Given the description of an element on the screen output the (x, y) to click on. 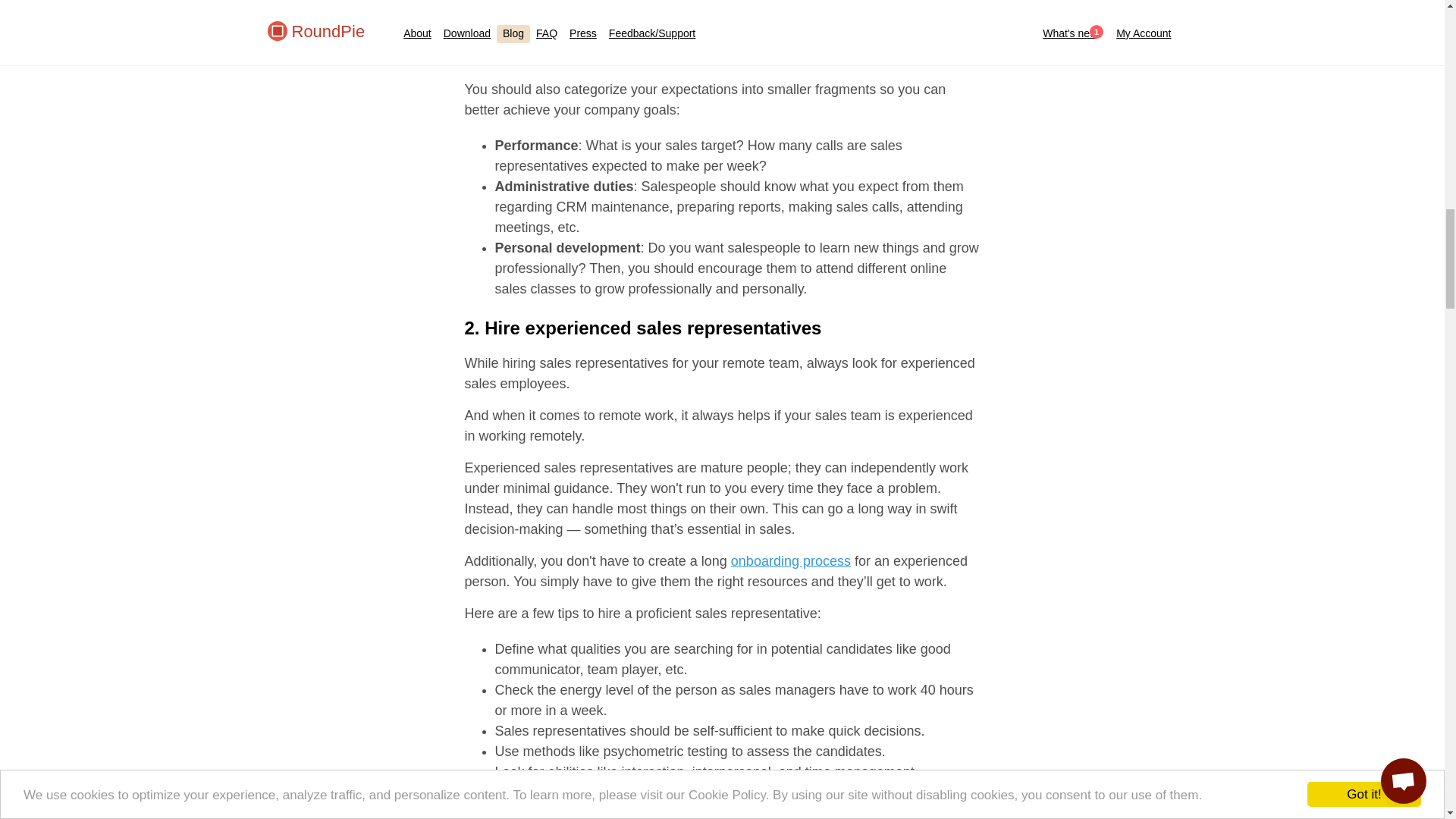
onboarding process (790, 560)
